Given the description of an element on the screen output the (x, y) to click on. 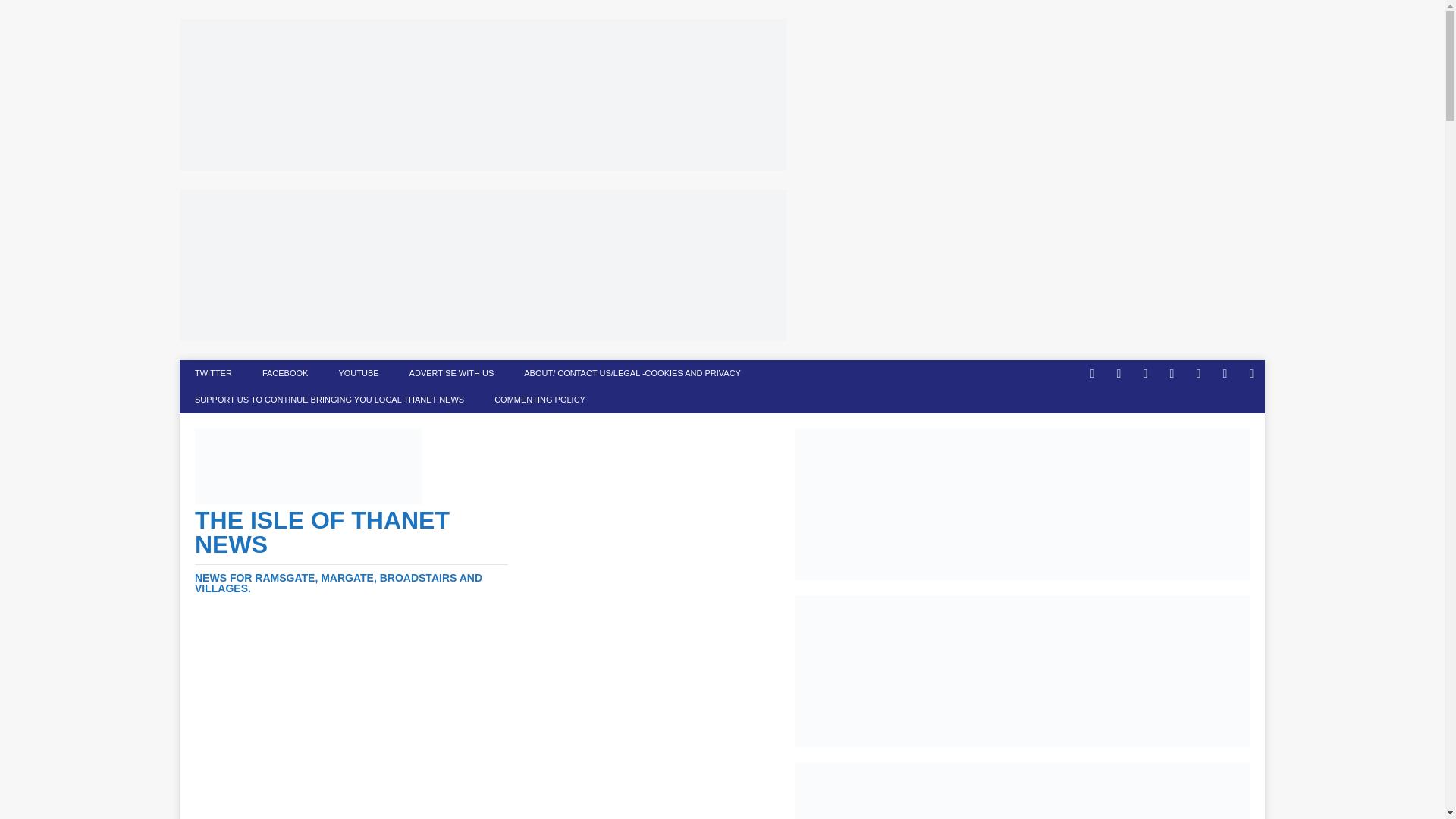
FACEBOOK (285, 373)
The Isle Of Thanet News (351, 550)
COMMENTING POLICY (539, 399)
ADVERTISE WITH US (451, 373)
YOUTUBE (358, 373)
SUPPORT US TO CONTINUE BRINGING YOU LOCAL THANET NEWS (329, 399)
TWITTER (213, 373)
